Given the description of an element on the screen output the (x, y) to click on. 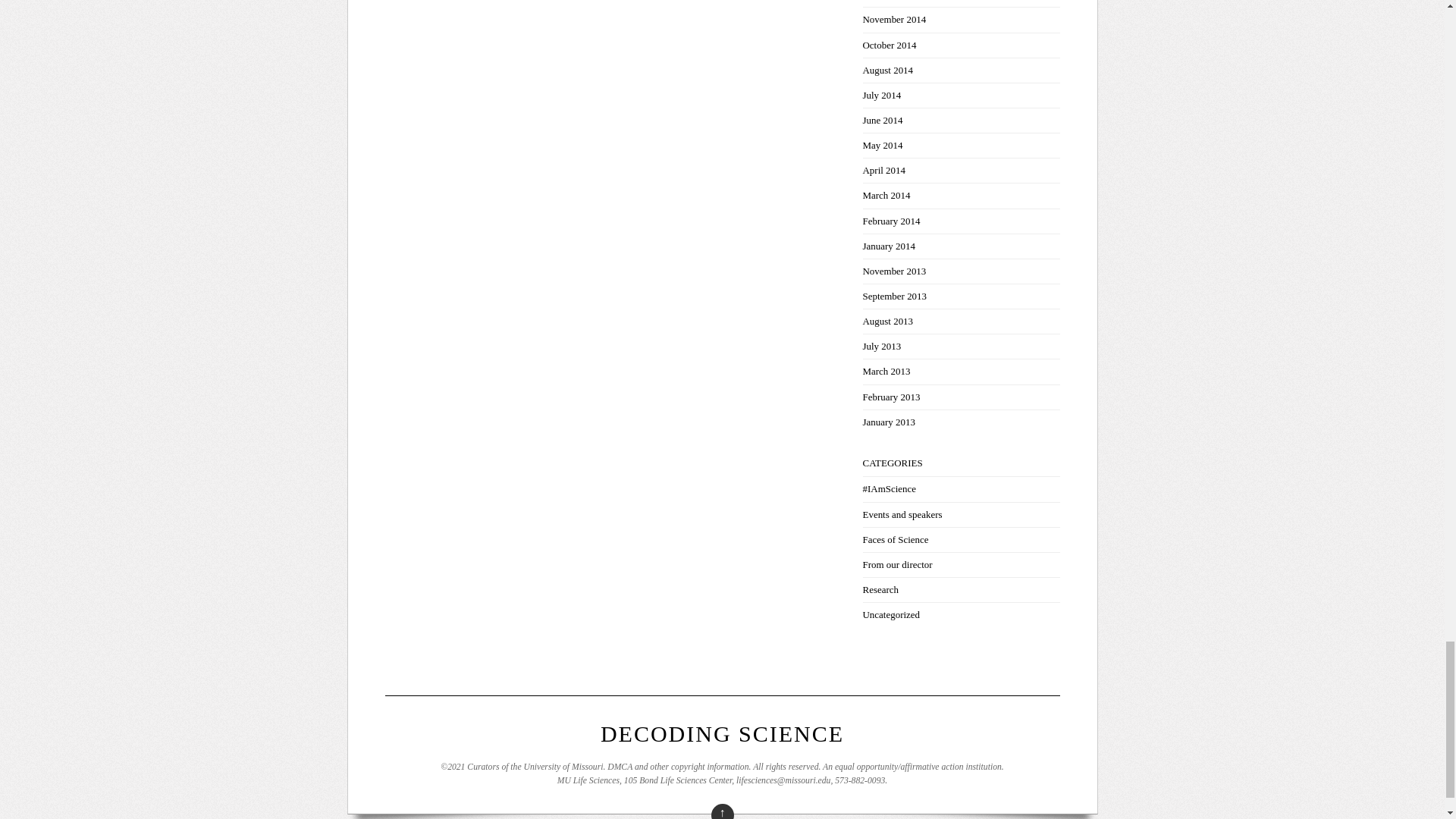
Decoding Science (721, 733)
